Given the description of an element on the screen output the (x, y) to click on. 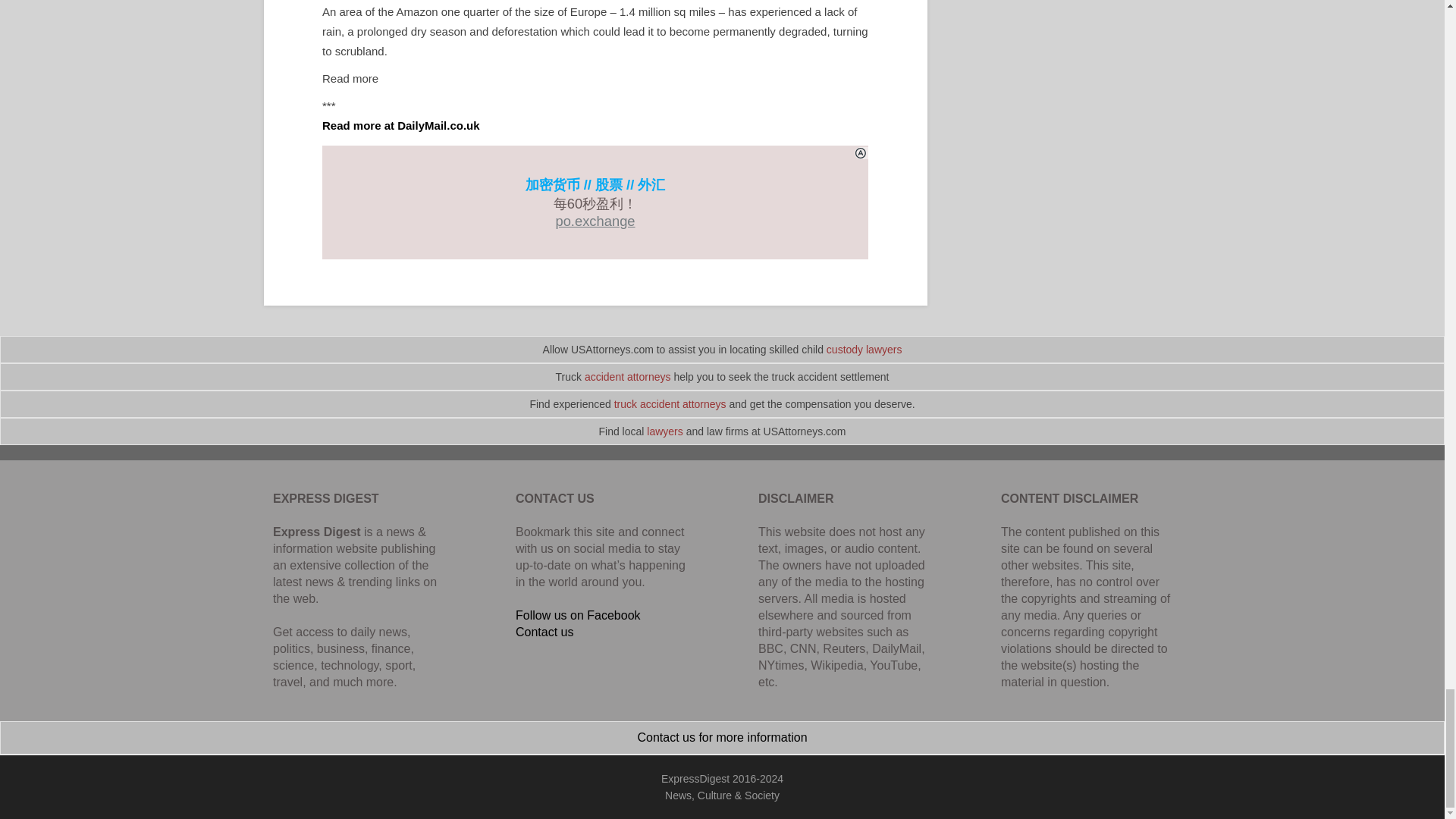
accident attorneys (628, 377)
truck accident attorneys (670, 404)
Read more at DailyMail.co.uk (400, 124)
custody lawyers (864, 349)
lawyers (664, 431)
